Given the description of an element on the screen output the (x, y) to click on. 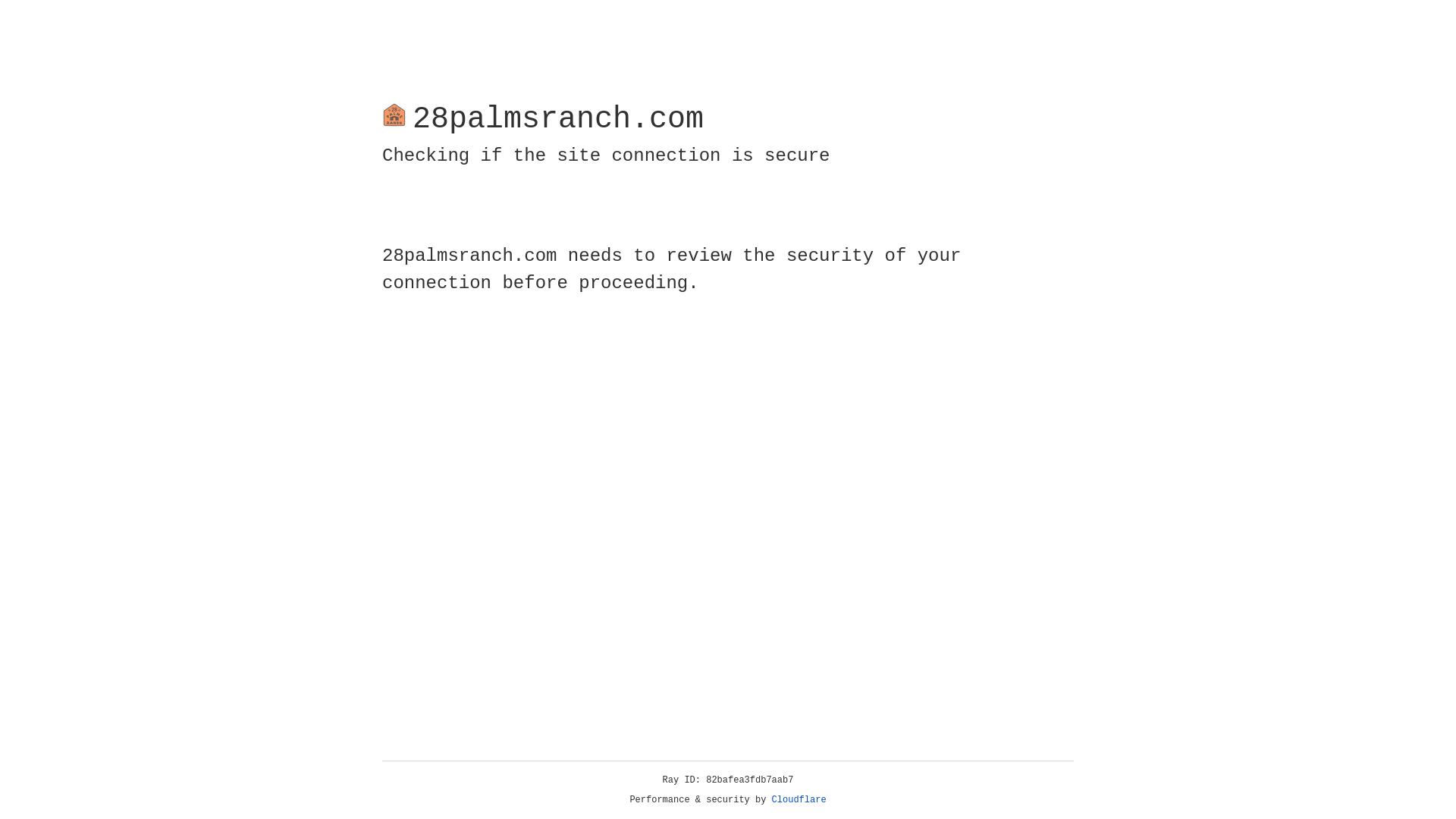
Cloudflare Element type: text (798, 799)
